Given the description of an element on the screen output the (x, y) to click on. 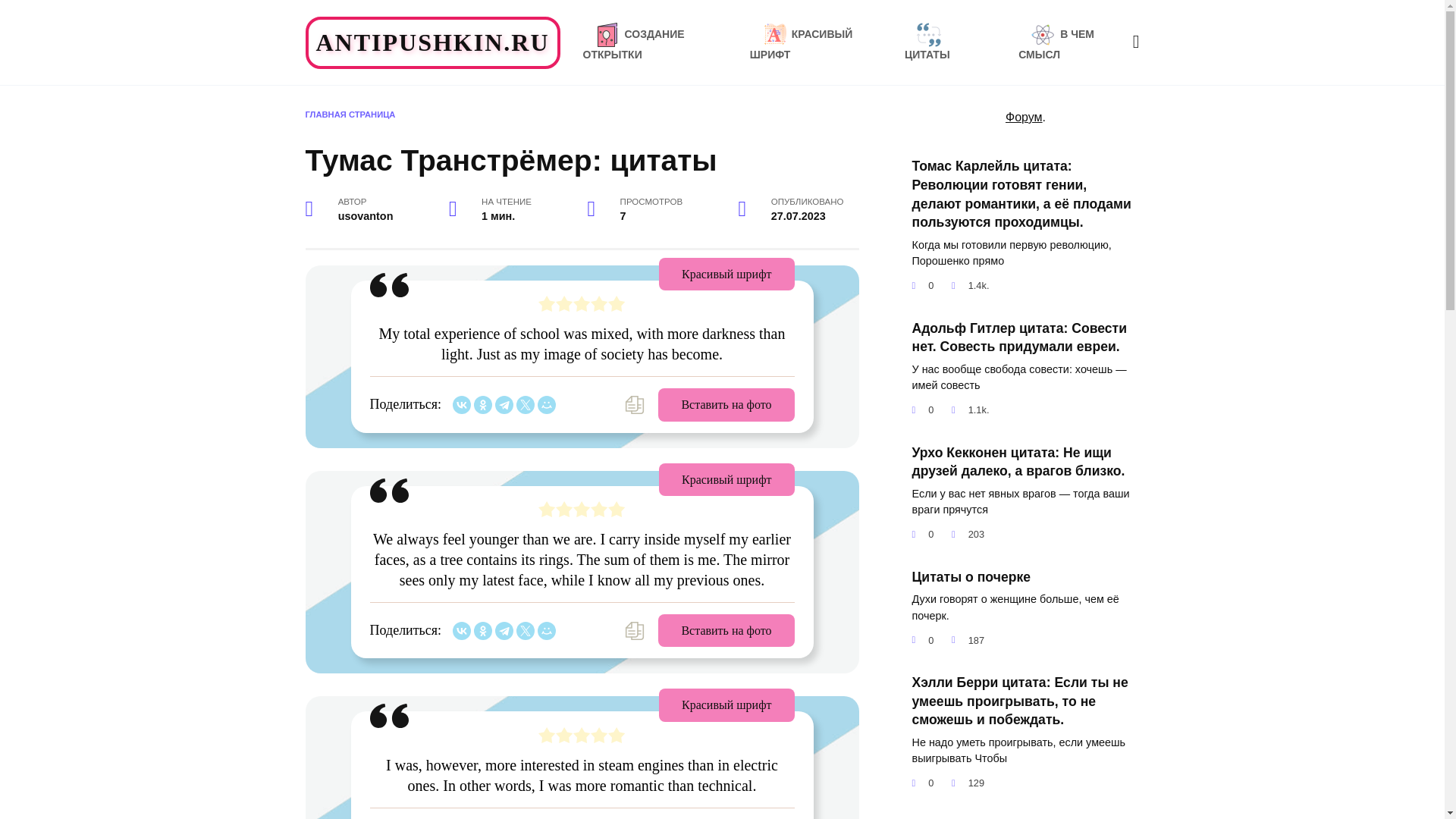
Telegram (504, 404)
Twitter (525, 630)
Telegram (504, 630)
Twitter (525, 404)
ANTIPUSHKIN.RU (431, 42)
